Given the description of an element on the screen output the (x, y) to click on. 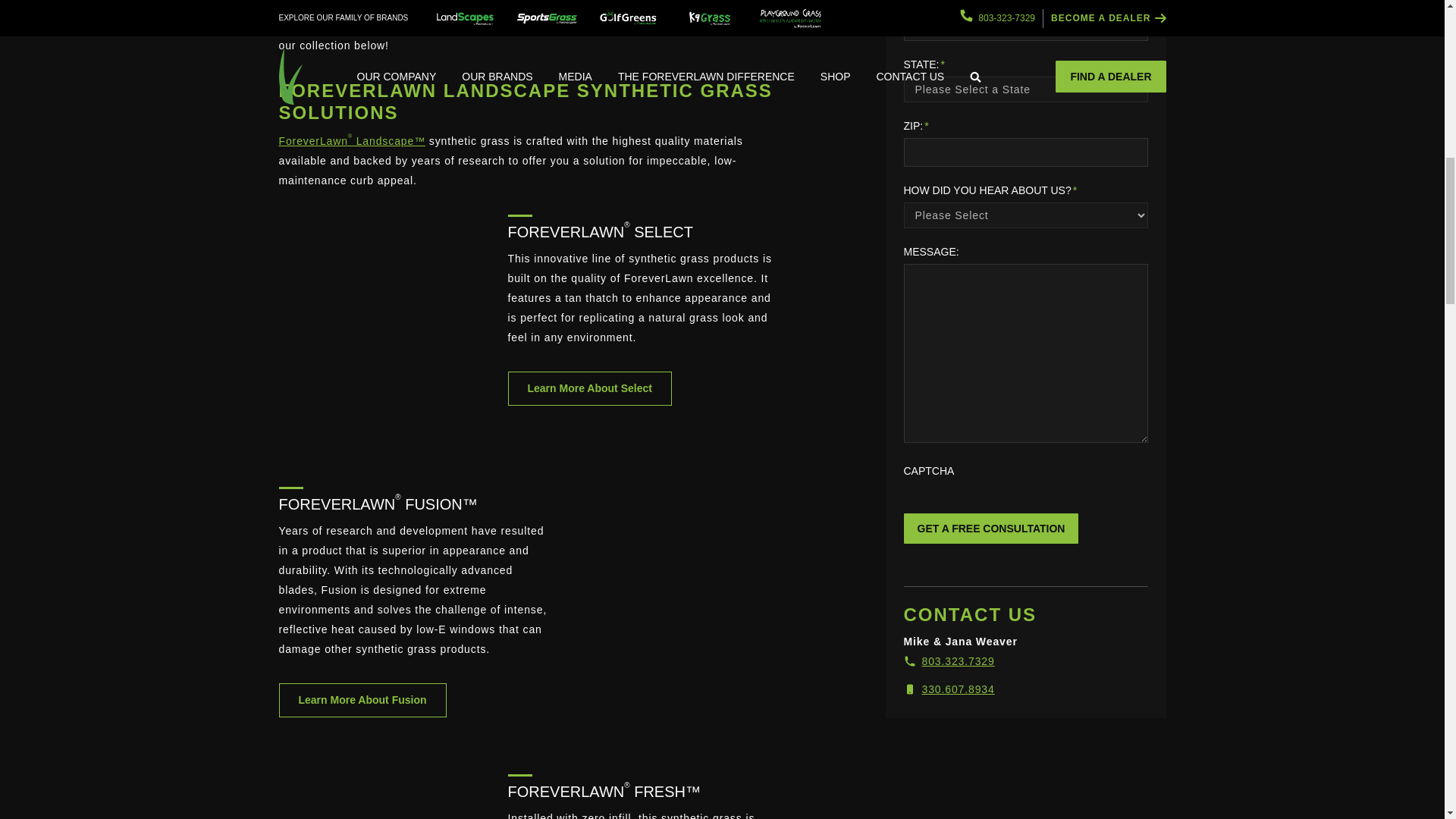
803.323.7329 (949, 660)
Get a FREE Consultation (991, 528)
Learn More About Fusion (362, 700)
Learn More About Select (589, 388)
Get a FREE Consultation (991, 528)
330.607.8934 (949, 689)
